Given the description of an element on the screen output the (x, y) to click on. 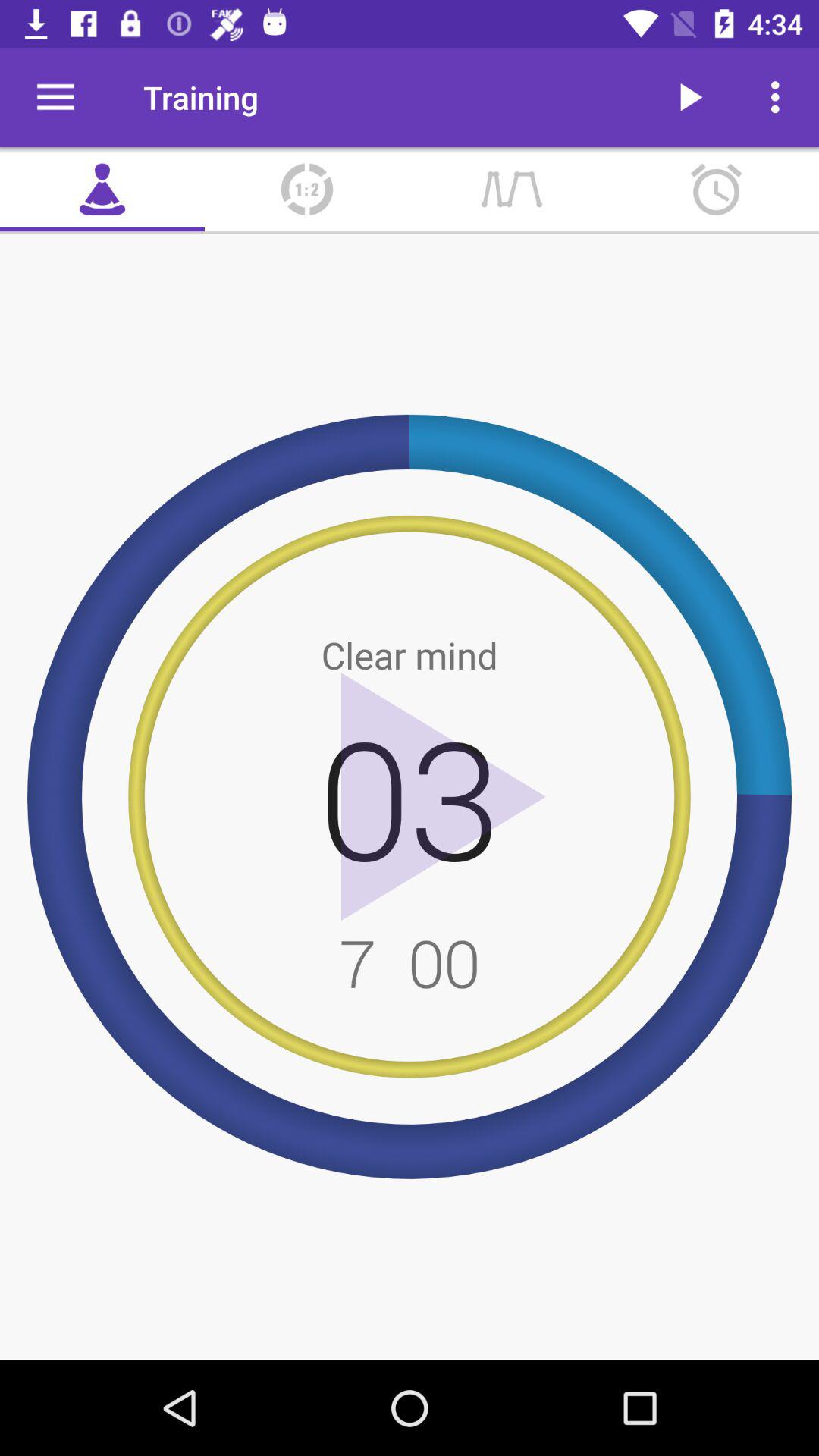
select the icon to the left of training item (55, 97)
